Given the description of an element on the screen output the (x, y) to click on. 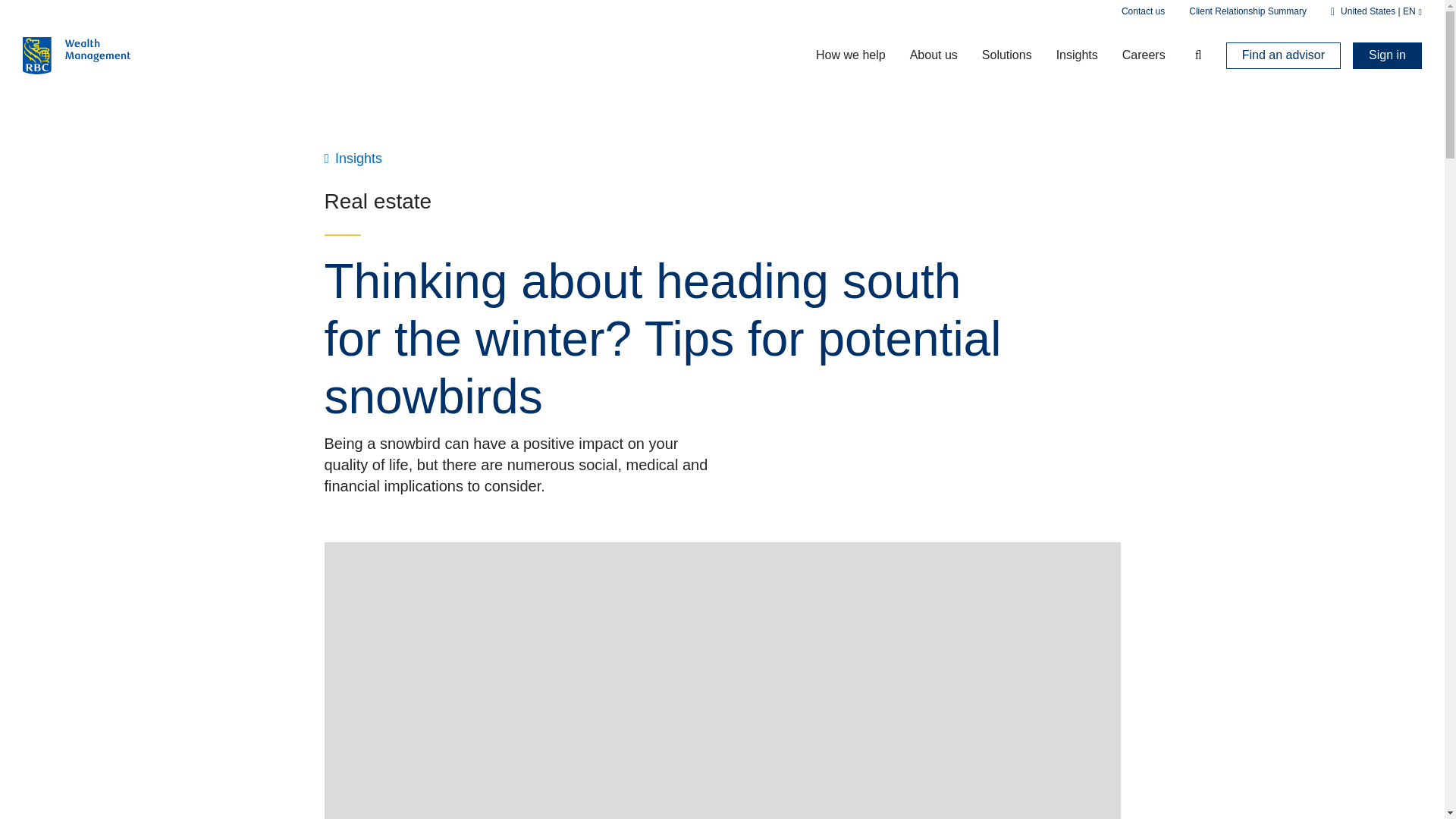
Contact us (1142, 10)
Sign in (1387, 55)
Find an advisor (1282, 55)
Client Relationship Summary (1247, 10)
Solutions (1006, 55)
Insights (1076, 55)
About us (933, 55)
Careers (1143, 55)
Search (1189, 55)
How we help (850, 55)
